Given the description of an element on the screen output the (x, y) to click on. 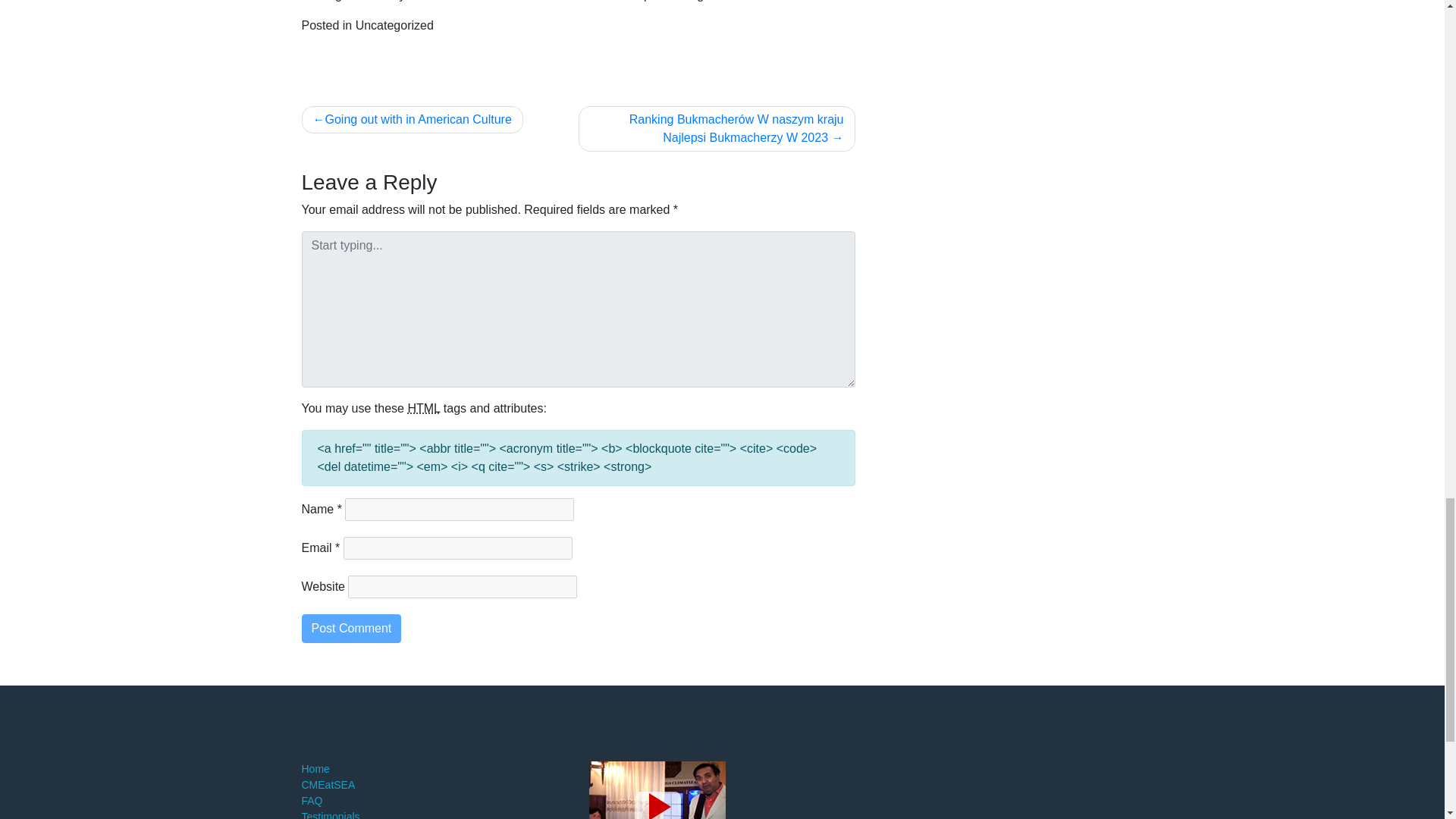
Post Comment (351, 628)
